Given the description of an element on the screen output the (x, y) to click on. 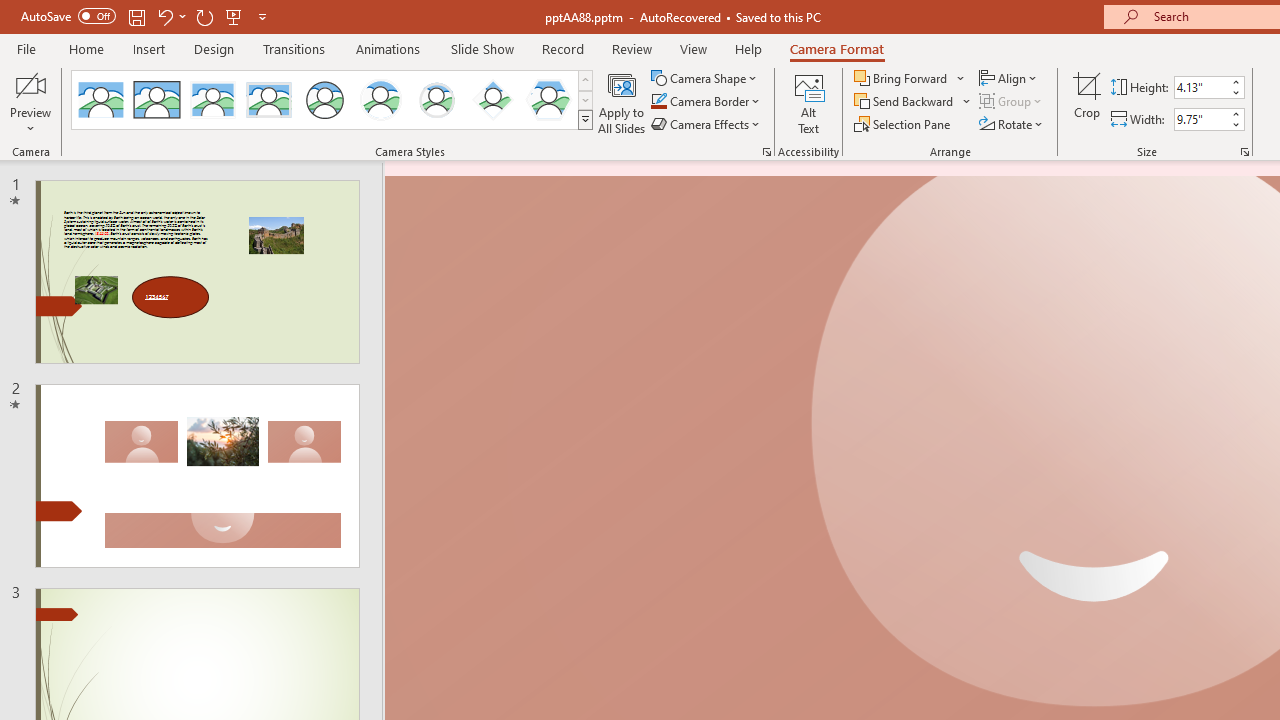
Center Shadow Hexagon (548, 100)
Camera Border Teal, Accent 1 (658, 101)
Camera Styles (585, 120)
Soft Edge Circle (436, 100)
AutomationID: CameoStylesGallery (333, 99)
Send Backward (913, 101)
Center Shadow Rectangle (212, 100)
